Given the description of an element on the screen output the (x, y) to click on. 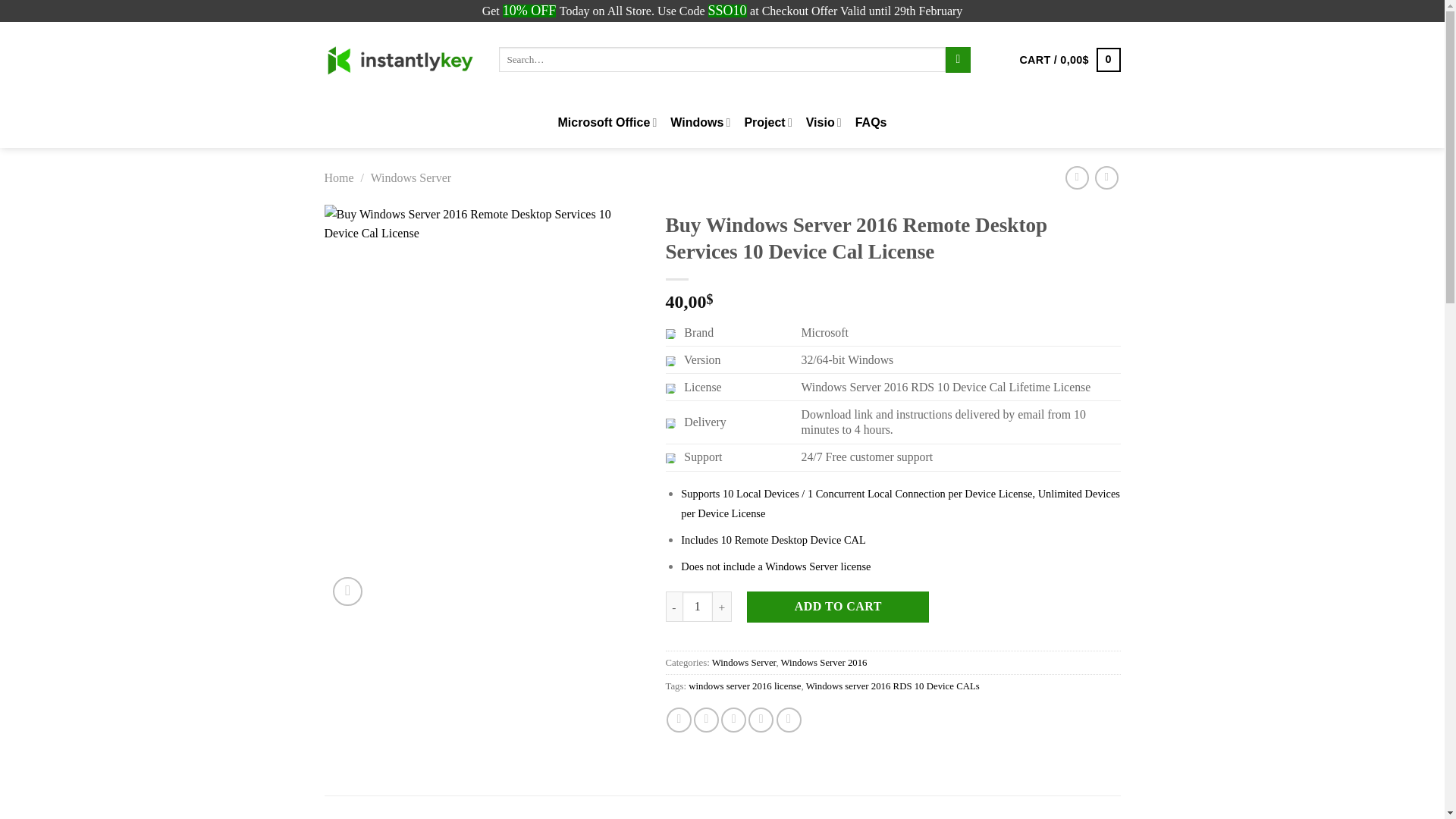
Microsoft Office (607, 122)
Email to a Friend (732, 719)
Project (768, 122)
Home (338, 177)
Search (957, 59)
1 (697, 606)
Windows (699, 122)
InstantlyKey - Selling Microsoft Products Keys (400, 59)
Zoom (347, 591)
Share on Facebook (678, 719)
